Given the description of an element on the screen output the (x, y) to click on. 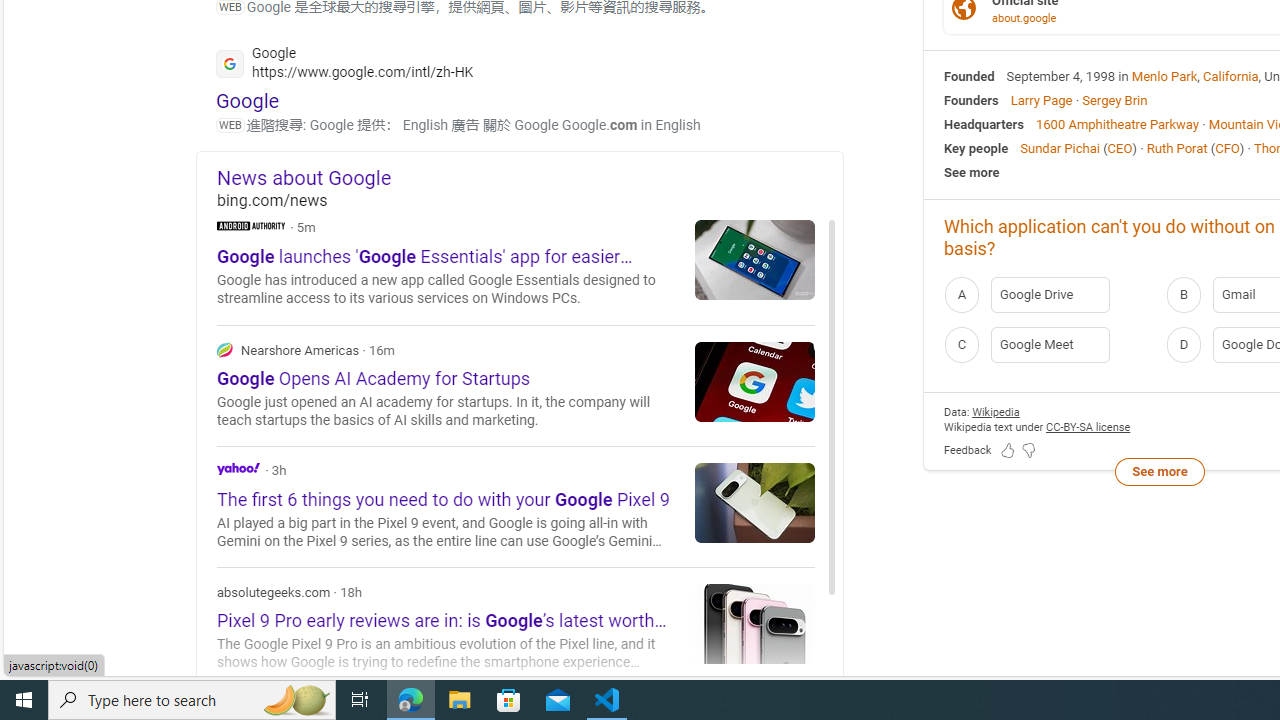
absolutegeeks.com (516, 627)
CEO (1119, 147)
C Google Meet (1049, 344)
1600 Amphitheatre Parkway (1117, 123)
Founded (969, 75)
Android Authority (251, 224)
Nearshore Americas (224, 349)
Google Opens AI Academy for Startups (755, 381)
The first 6 things you need to do with your Google Pixel 9 (755, 502)
